Given the description of an element on the screen output the (x, y) to click on. 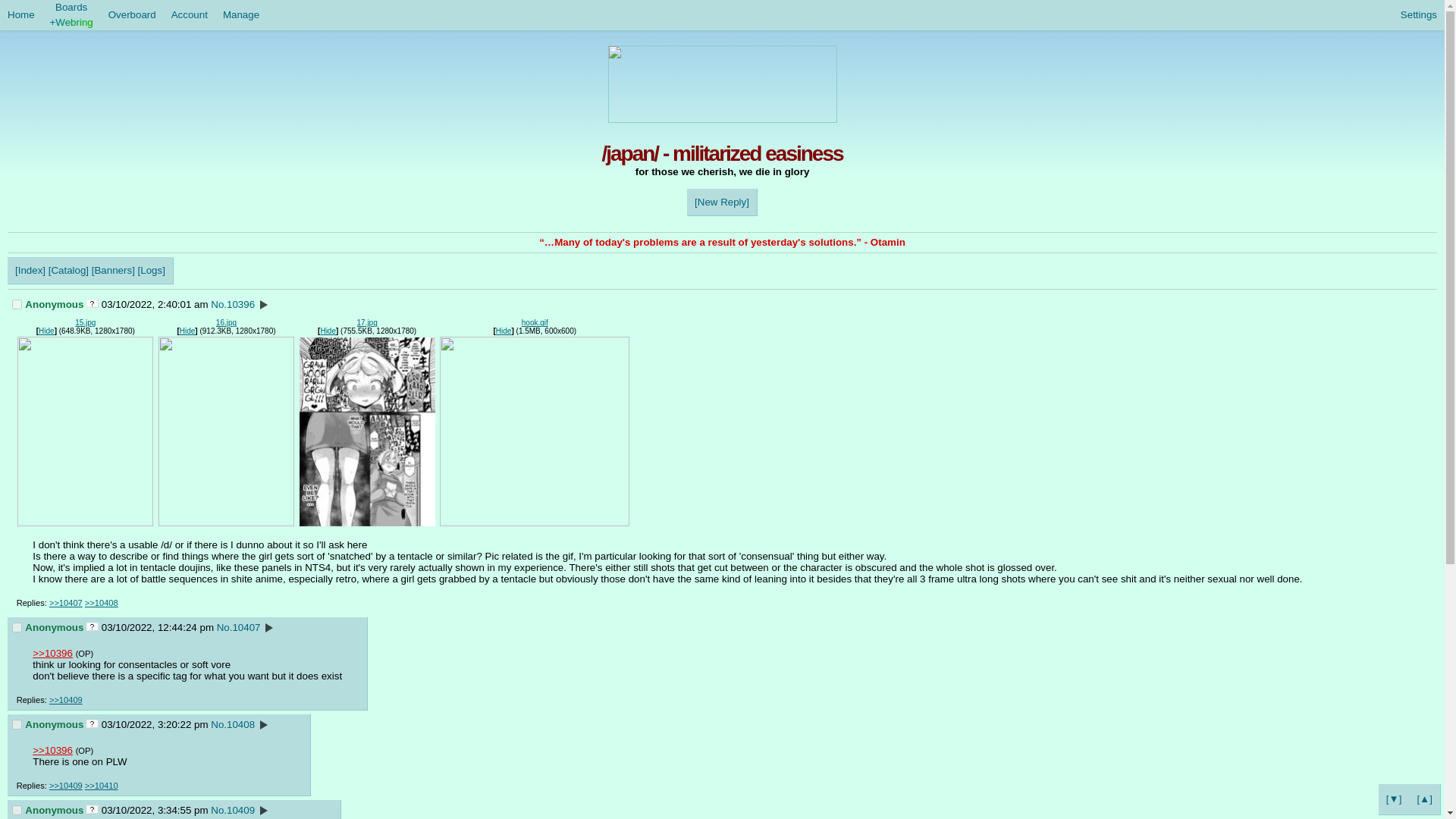
10408 (16, 724)
10407 (245, 627)
Hide (328, 330)
Hide (187, 330)
Download 15.jpg (85, 322)
10409 (16, 809)
No. (219, 304)
10407 (16, 627)
Manage (240, 15)
Download 17.jpg (366, 322)
